Given the description of an element on the screen output the (x, y) to click on. 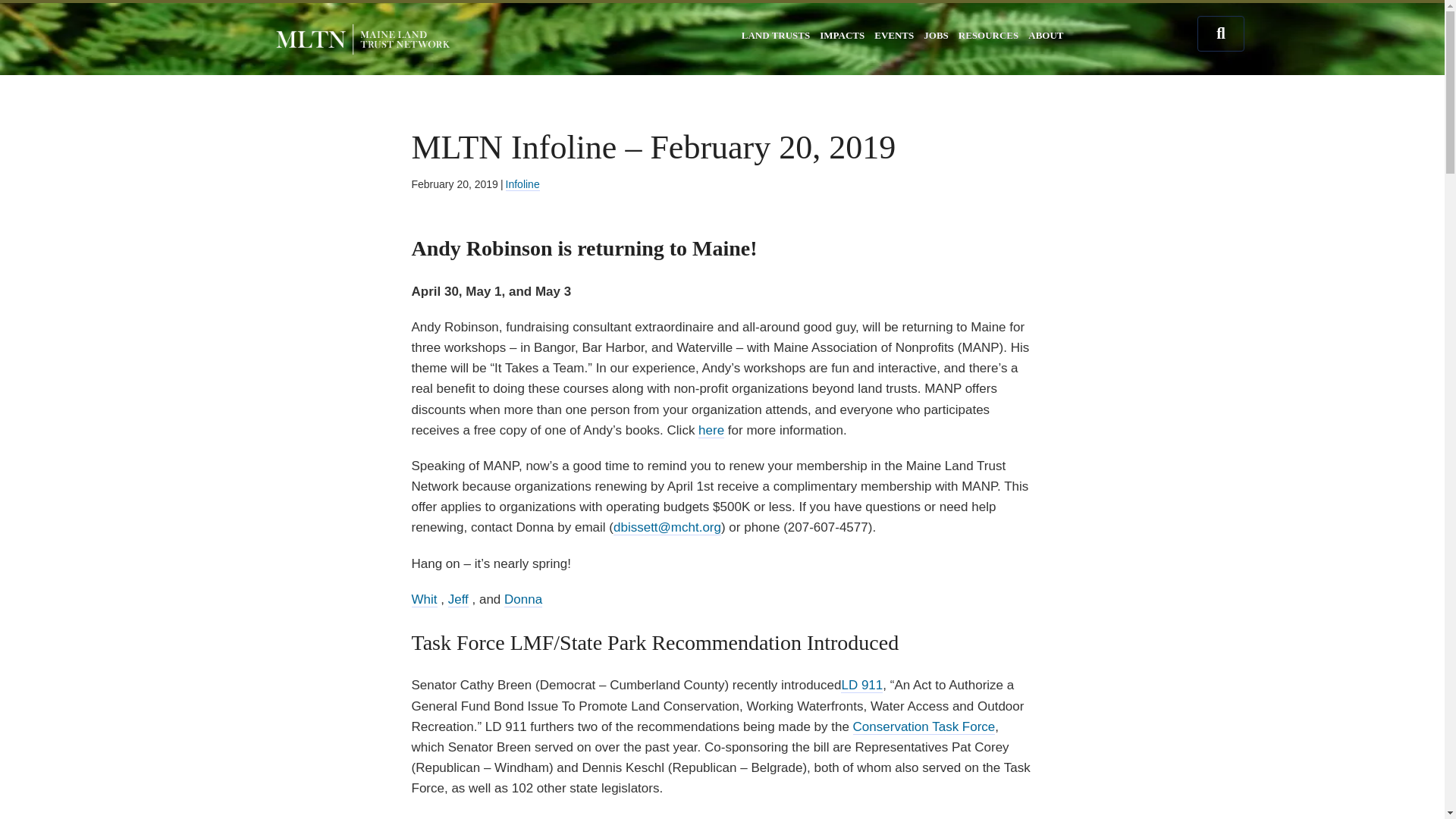
RESOURCES (988, 35)
ABOUT (1045, 35)
IMPACTS (842, 35)
EVENTS (893, 35)
LAND TRUSTS (774, 35)
